Given the description of an element on the screen output the (x, y) to click on. 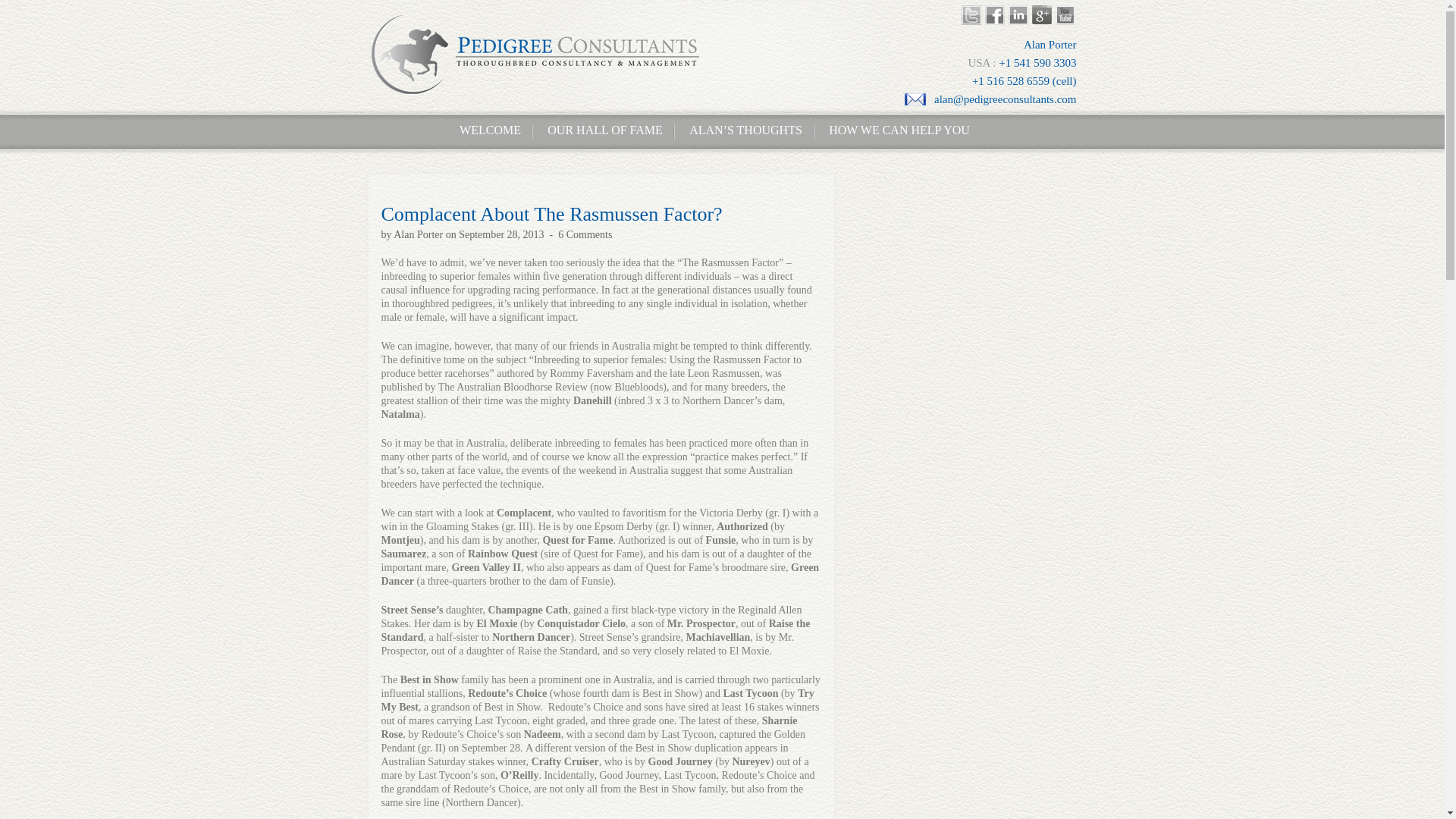
Pedigree Consultants Twitter Profile (972, 14)
Pedigree Consultants Facebook Page (995, 14)
WELCOME (489, 130)
OUR HALL OF FAME (605, 130)
Alan Porter (417, 234)
Pedigree Consultants Google Plus Page (1042, 14)
Pedigree Consultants Linked In Page (1020, 14)
Pedigree Consultants YouTube Channel (1066, 14)
6 Comments (584, 234)
HOW WE CAN HELP YOU (898, 130)
